Given the description of an element on the screen output the (x, y) to click on. 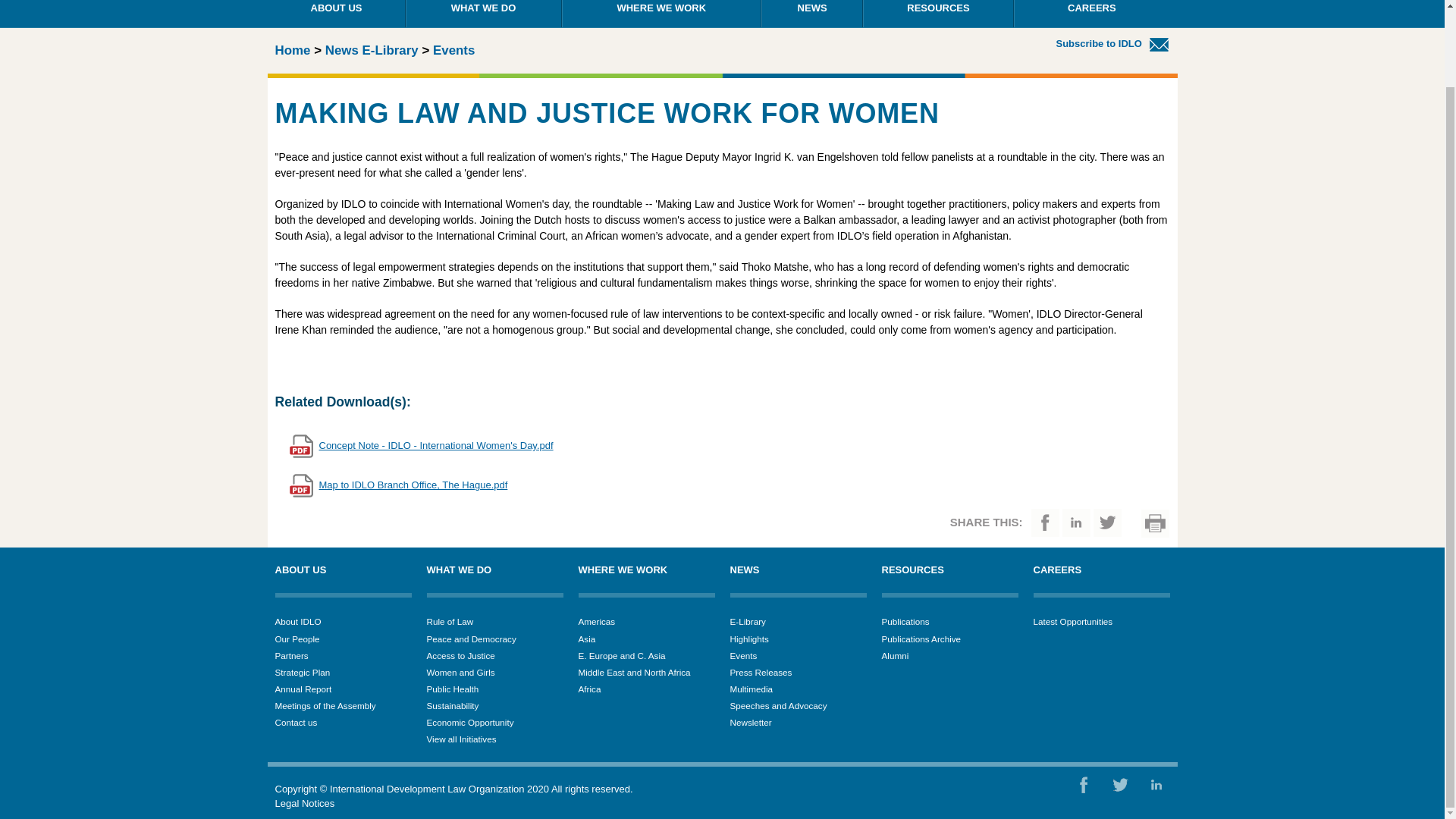
WHAT WE DO (483, 13)
About Us (335, 13)
ABOUT US (335, 13)
